Given the description of an element on the screen output the (x, y) to click on. 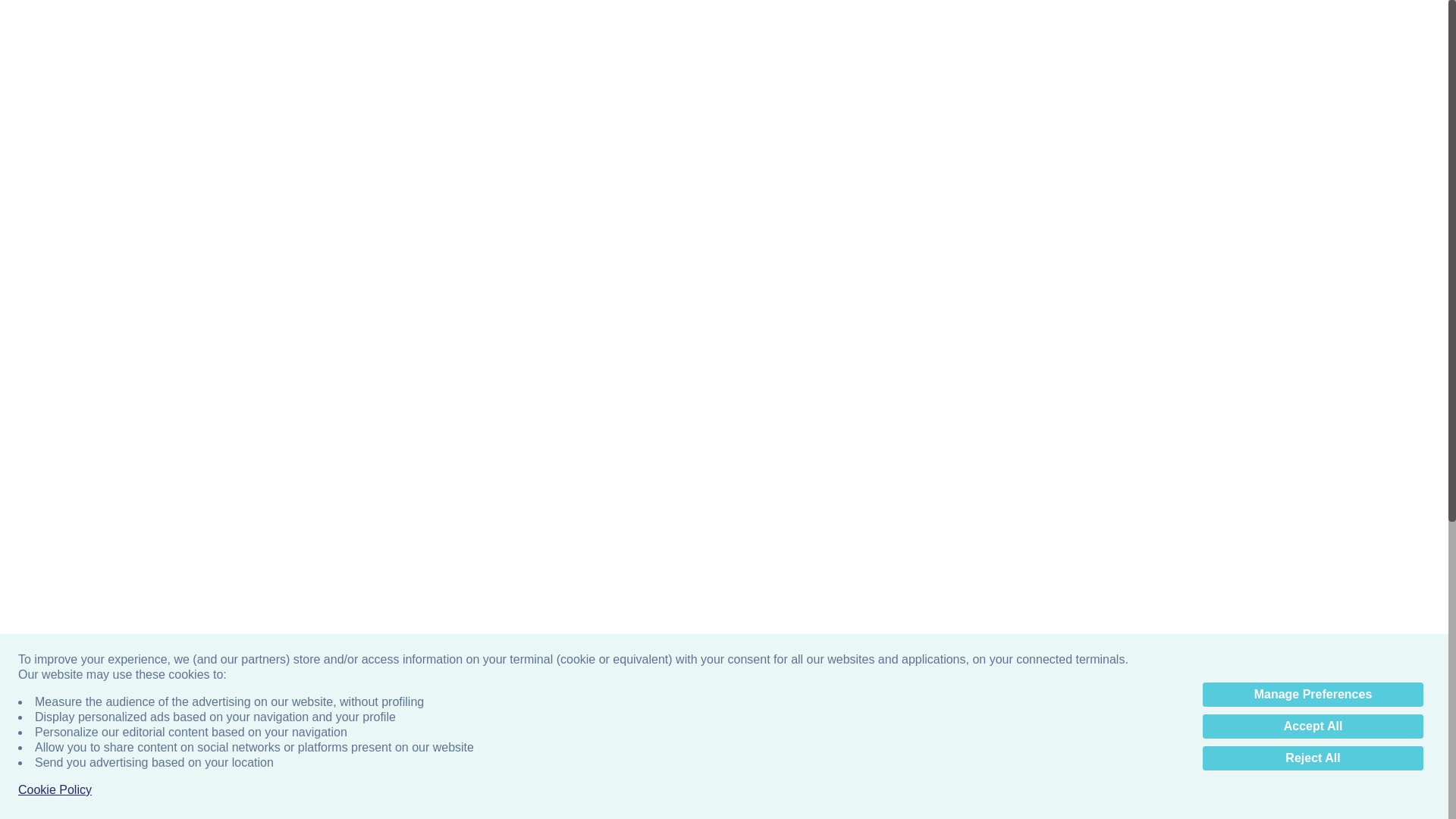
Manage Preferences (1312, 694)
Reject All (1312, 758)
Cookie Policy (54, 789)
Accept All (1312, 726)
